Given the description of an element on the screen output the (x, y) to click on. 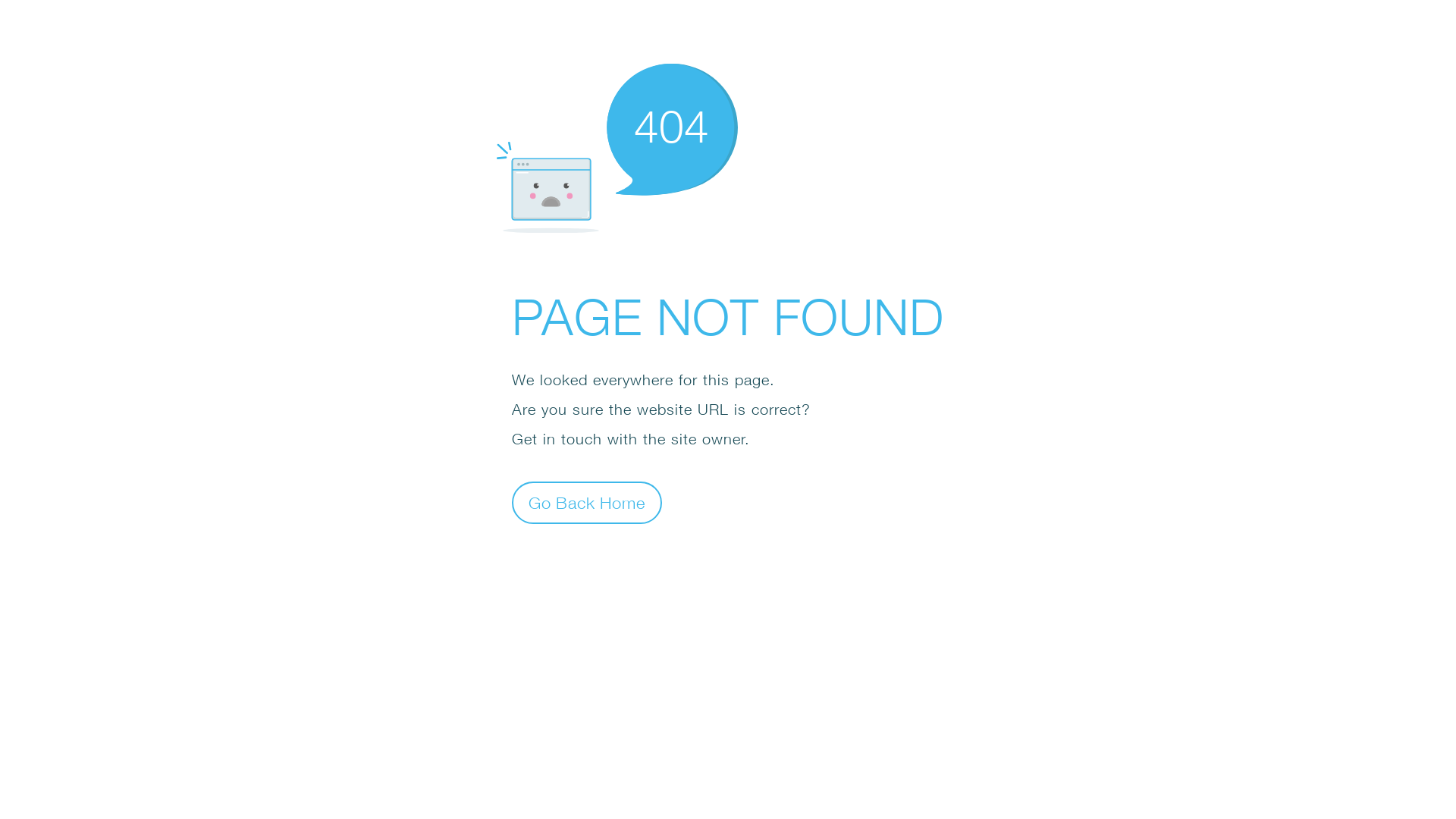
Go Back Home Element type: text (586, 502)
